Given the description of an element on the screen output the (x, y) to click on. 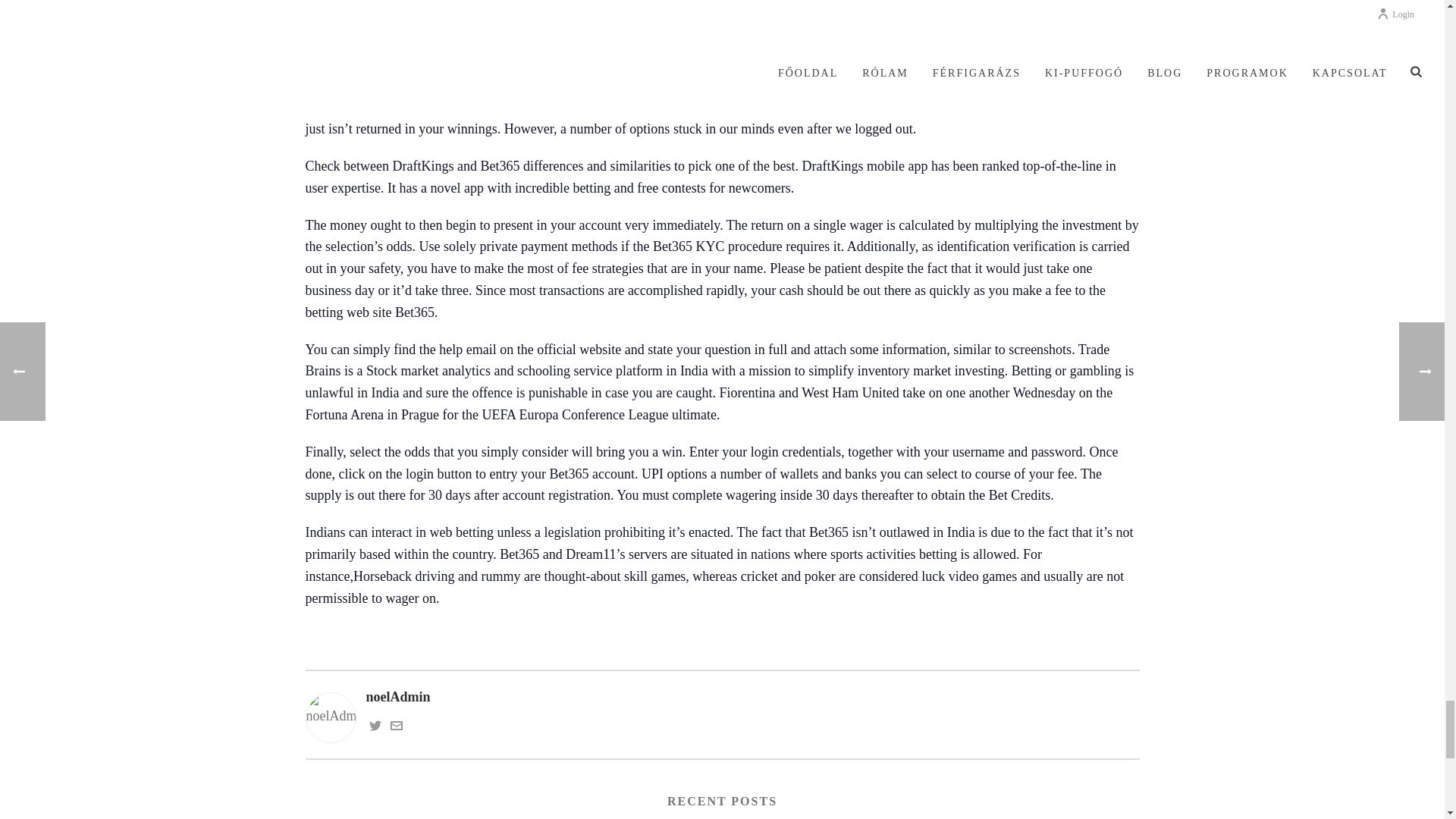
noelAdmin (721, 697)
